Given the description of an element on the screen output the (x, y) to click on. 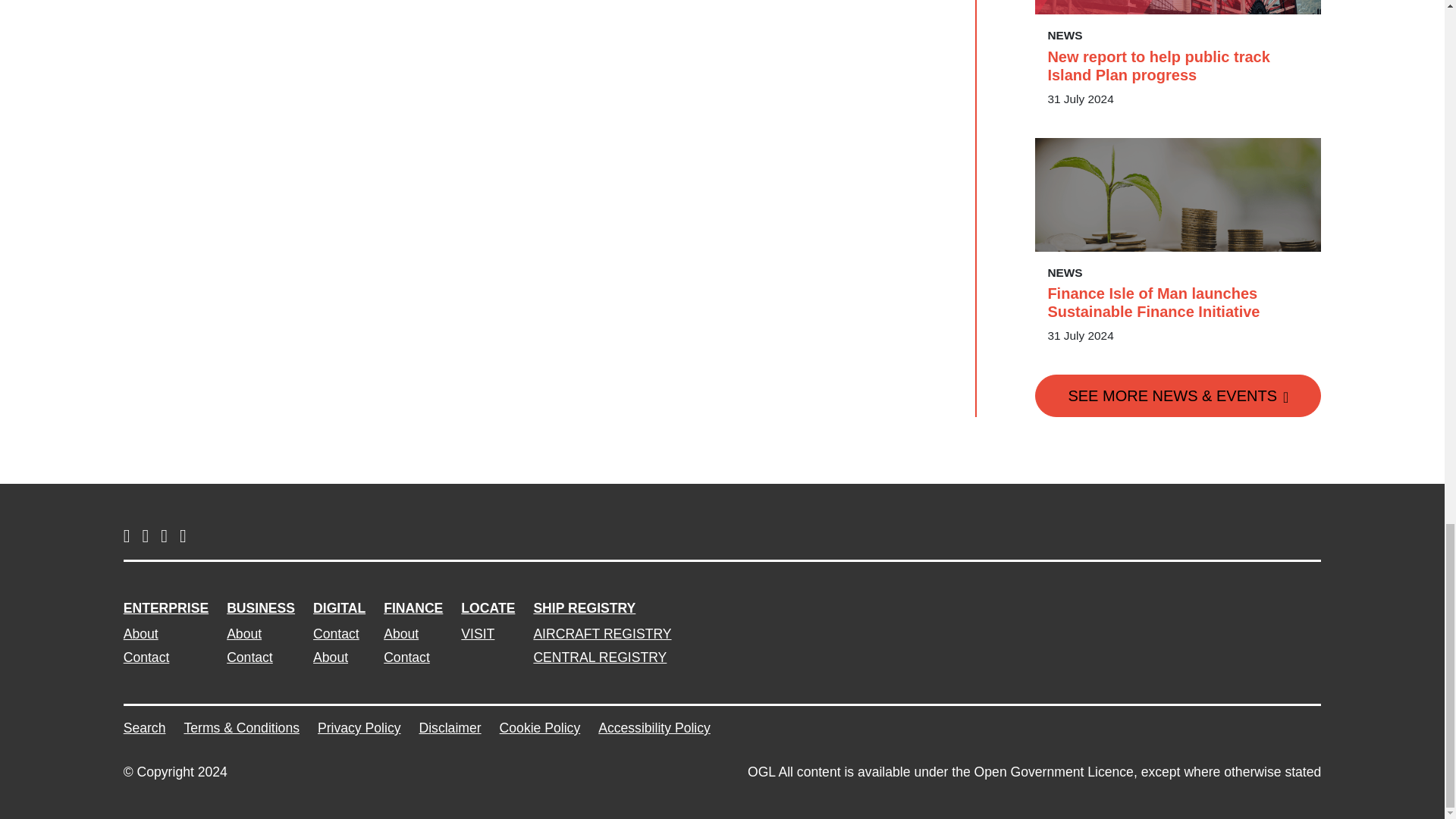
New report to help public track Island Plan progress (1177, 65)
About (261, 633)
Finance Isle of Man launches Sustainable Finance Initiative (1177, 302)
Contact (165, 657)
ENTERPRISE (165, 608)
About (165, 633)
BUSINESS (261, 608)
